Given the description of an element on the screen output the (x, y) to click on. 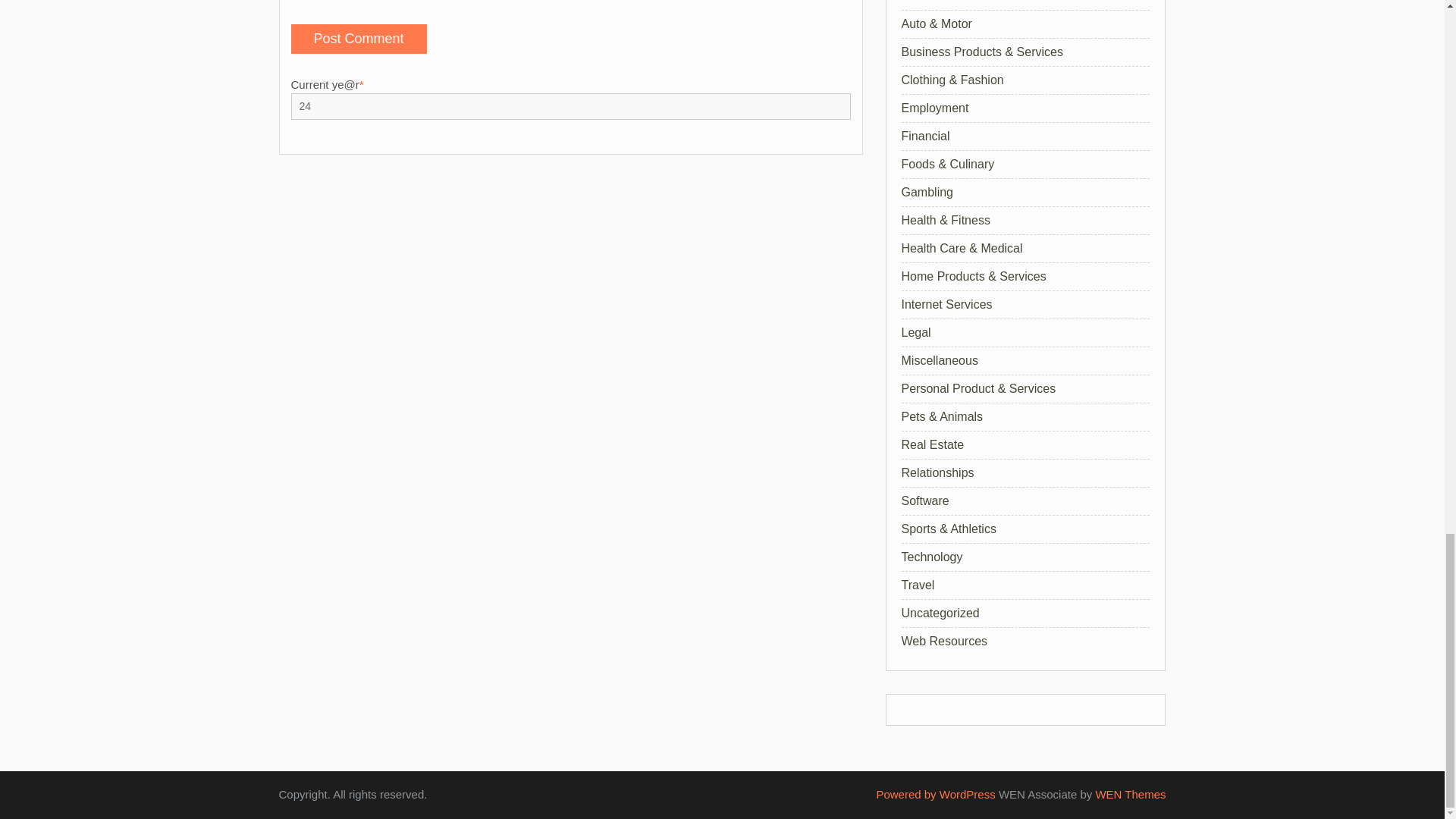
Post Comment (358, 39)
Post Comment (358, 39)
24 (570, 106)
